Given the description of an element on the screen output the (x, y) to click on. 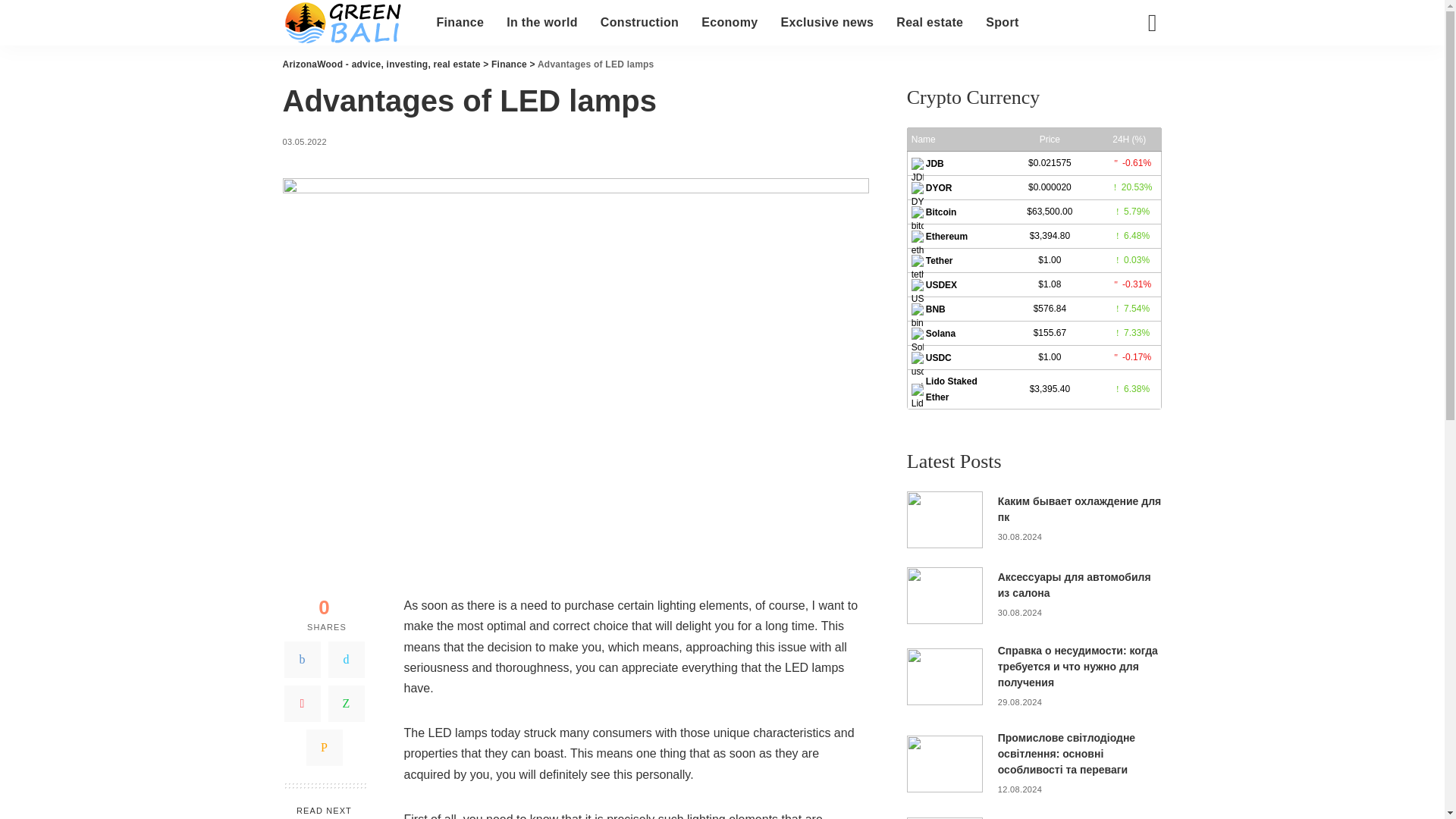
Economy (729, 22)
ArizonaWood - advice, investing, real estate (347, 22)
Go to the Finance Category archives. (509, 63)
Exclusive news (826, 22)
In the world (542, 22)
Finance (460, 22)
Real estate (929, 22)
Go to ArizonaWood - advice, investing, real estate. (381, 63)
Sport (1001, 22)
Search (1140, 76)
